Given the description of an element on the screen output the (x, y) to click on. 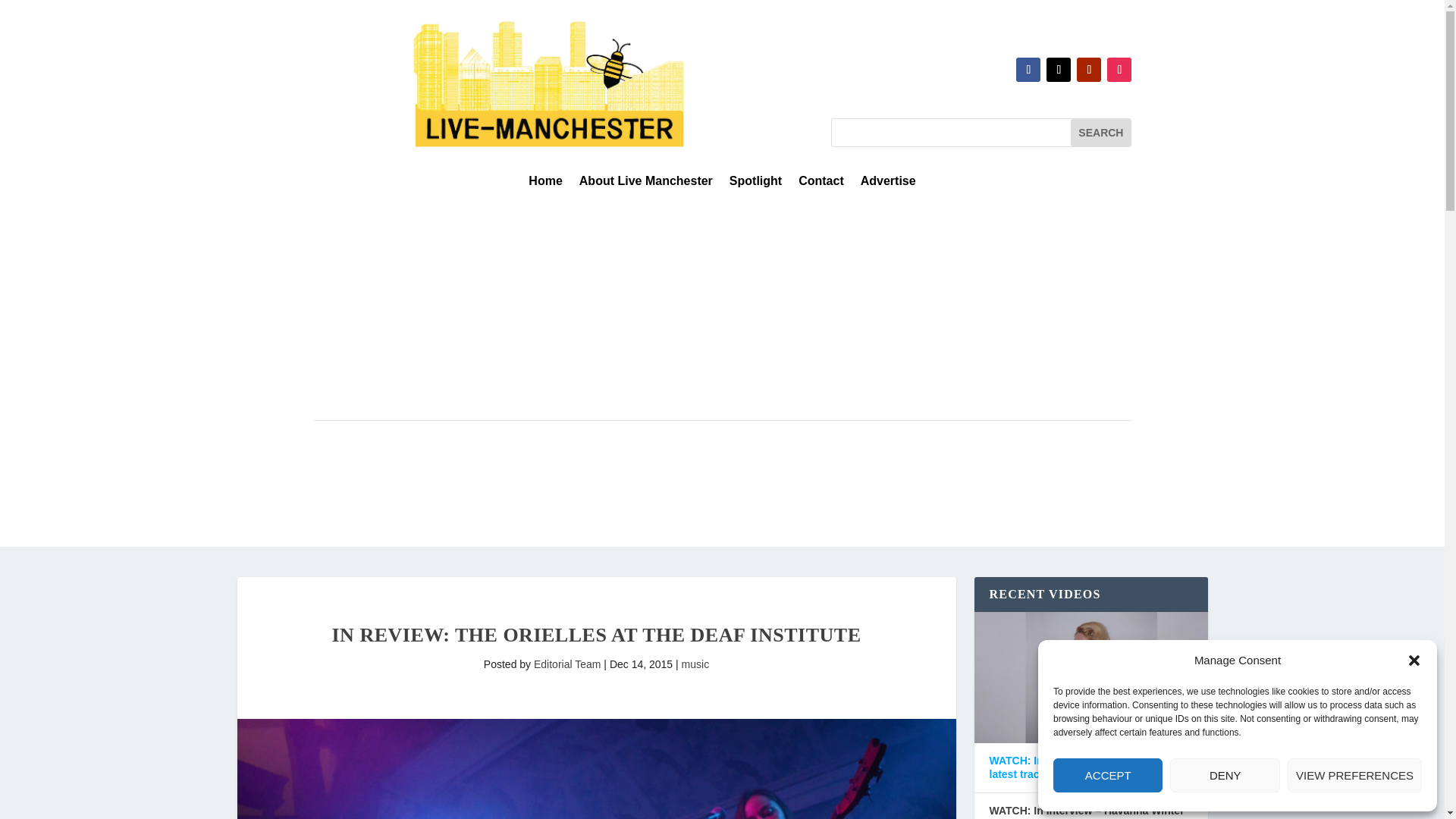
Follow on Youtube (1088, 69)
Search (1100, 132)
Home (545, 184)
Follow on Facebook (1028, 69)
ACCEPT (1106, 775)
Search (1100, 132)
Follow on X (1058, 69)
Live Manchester Banner (549, 83)
Advertise (887, 184)
DENY (1224, 775)
Contact (820, 184)
About Live Manchester (646, 184)
Spotlight (755, 184)
Search (1100, 132)
